Given the description of an element on the screen output the (x, y) to click on. 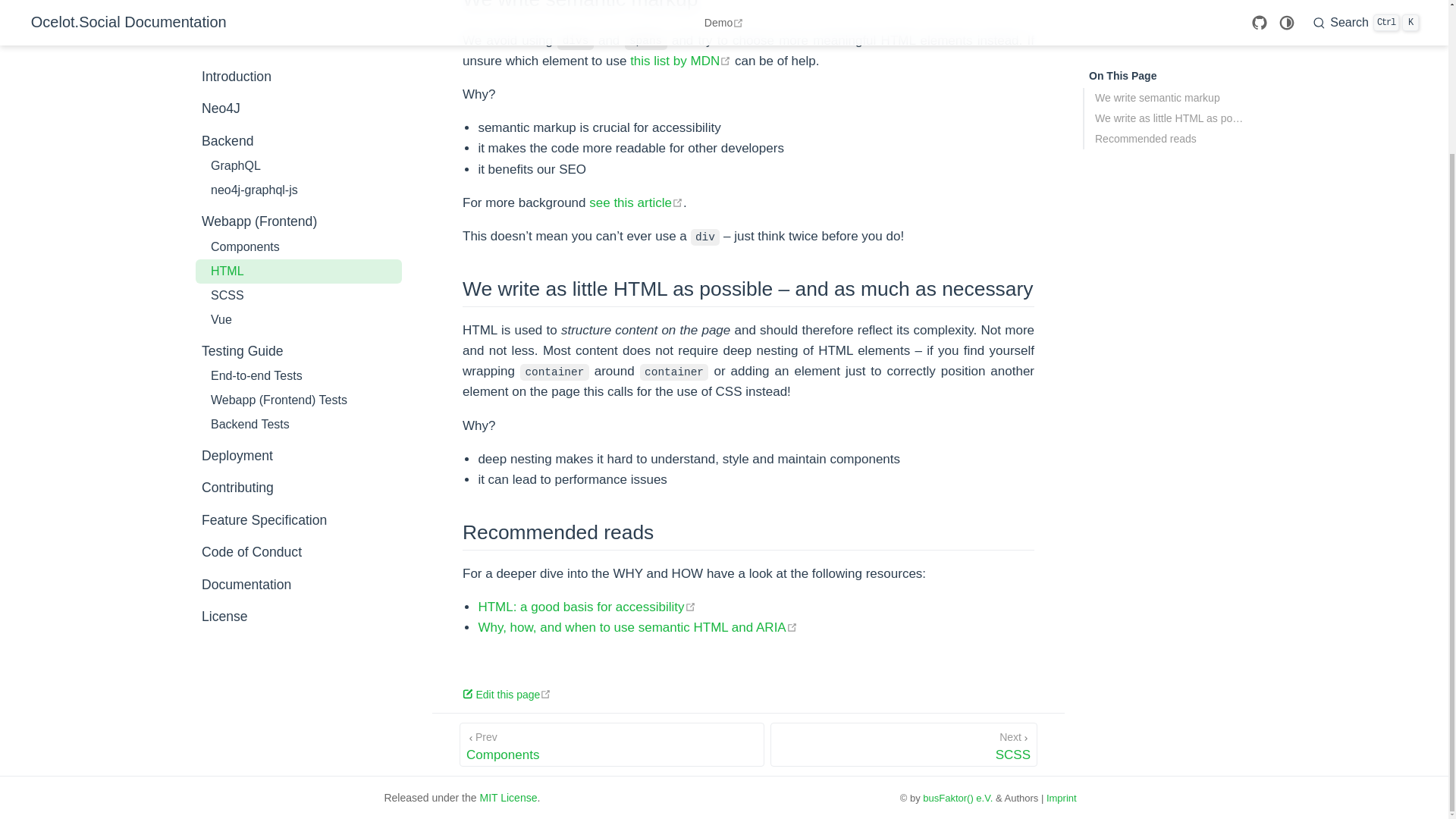
Deployment (586, 606)
Testing Guide (635, 202)
Code of Conduct (298, 272)
Components (299, 168)
Contributing (298, 369)
HTML (298, 64)
Documentation (680, 60)
End-to-end Tests (298, 304)
neo4j-graphql-js (298, 88)
Feature Specification (298, 401)
Recommended reads (298, 192)
